Given the description of an element on the screen output the (x, y) to click on. 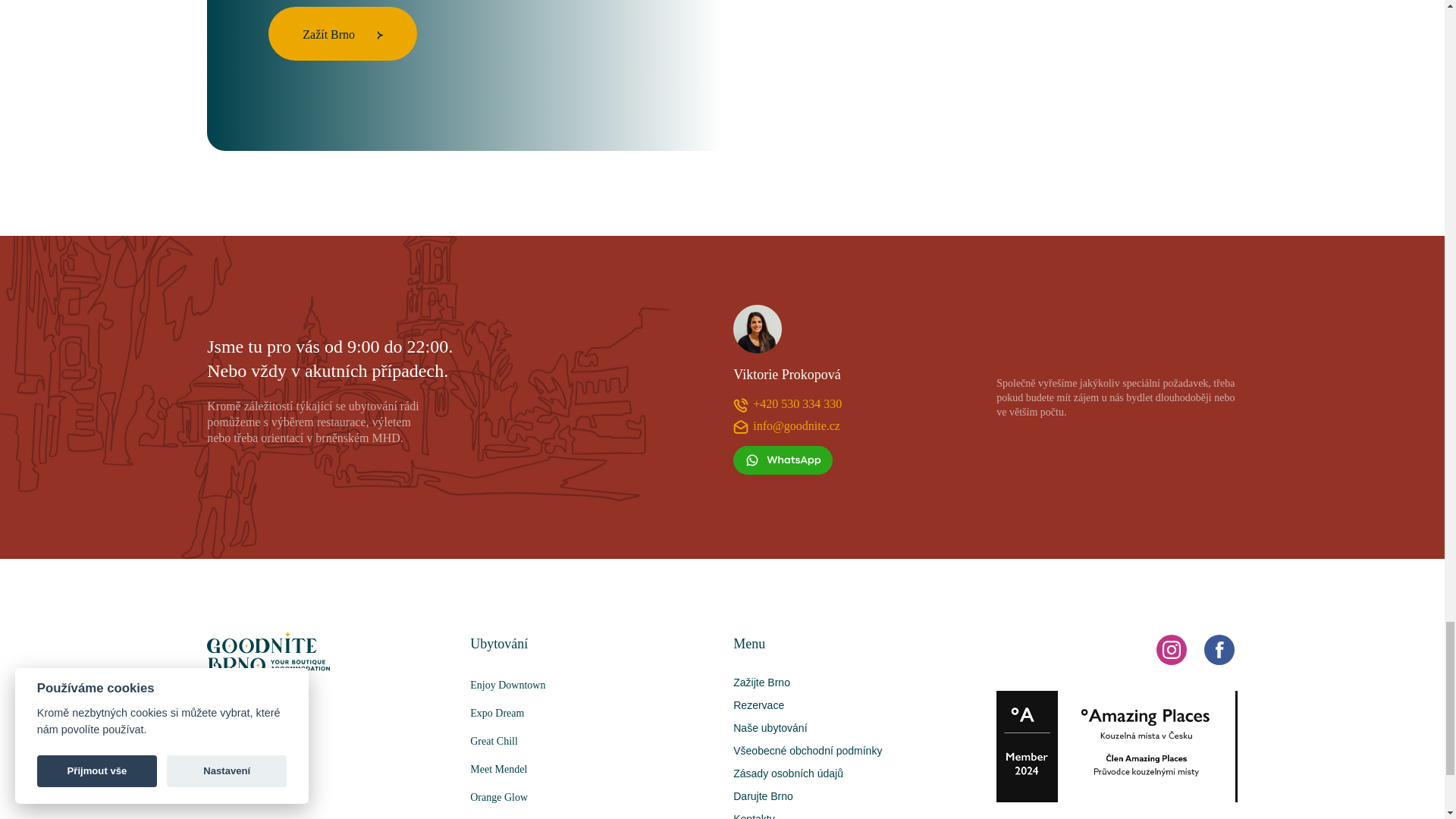
Village Peace (590, 815)
Enjoy Downtown (590, 684)
Darujte Brno (763, 796)
Kontakty (753, 816)
Kontakty (753, 816)
Rezervace (758, 705)
Darujte Brno (763, 796)
Meet Mendel (590, 768)
Great Chill (590, 741)
Expo Dream (590, 713)
Orange Glow (590, 796)
Rezervace (758, 705)
